Given the description of an element on the screen output the (x, y) to click on. 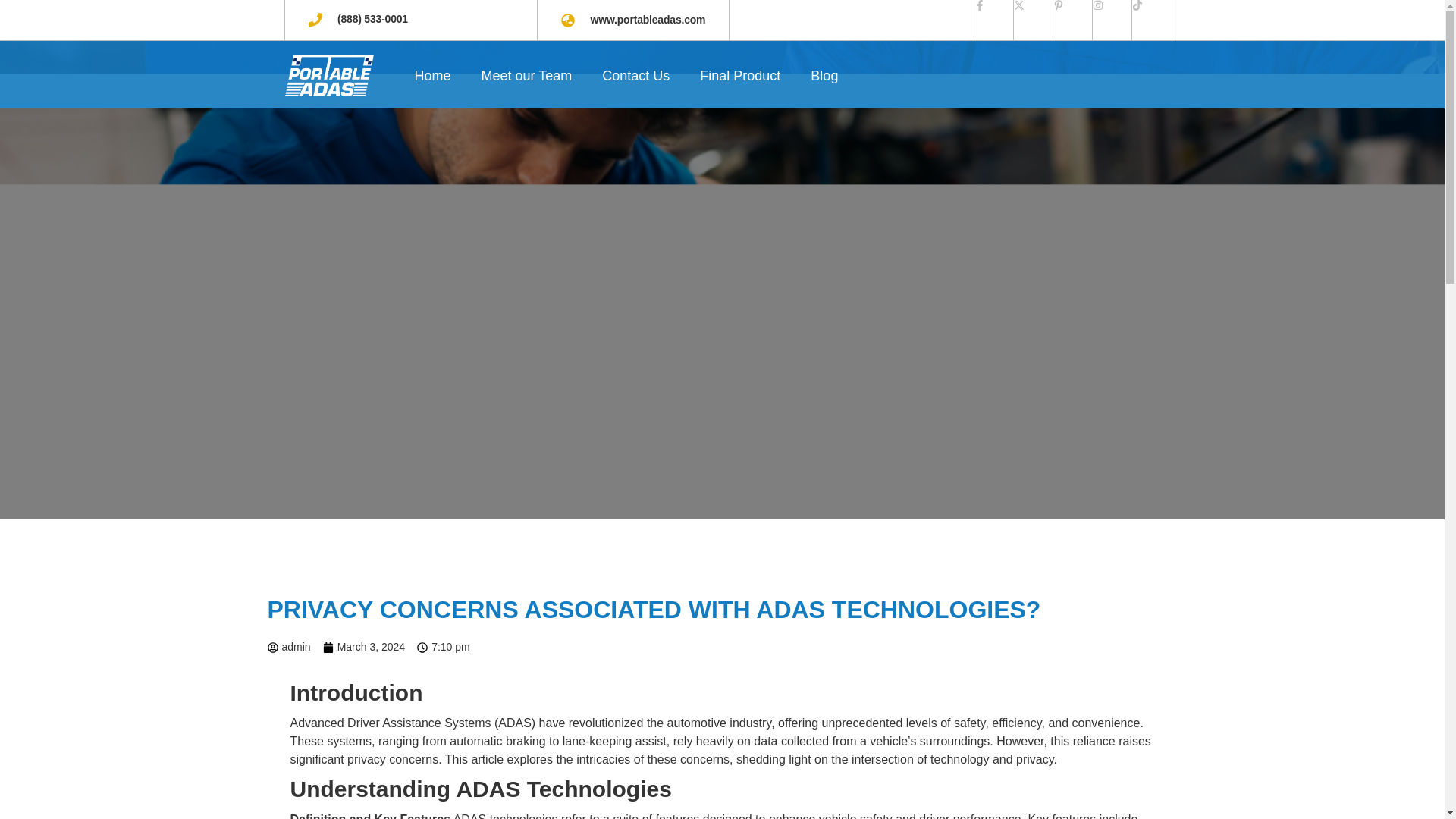
www.portableadas.com (633, 20)
March 3, 2024 (364, 647)
Final Product (739, 75)
Home (431, 75)
Contact Us (635, 75)
Blog (823, 75)
admin (288, 647)
Meet our Team (526, 75)
